Given the description of an element on the screen output the (x, y) to click on. 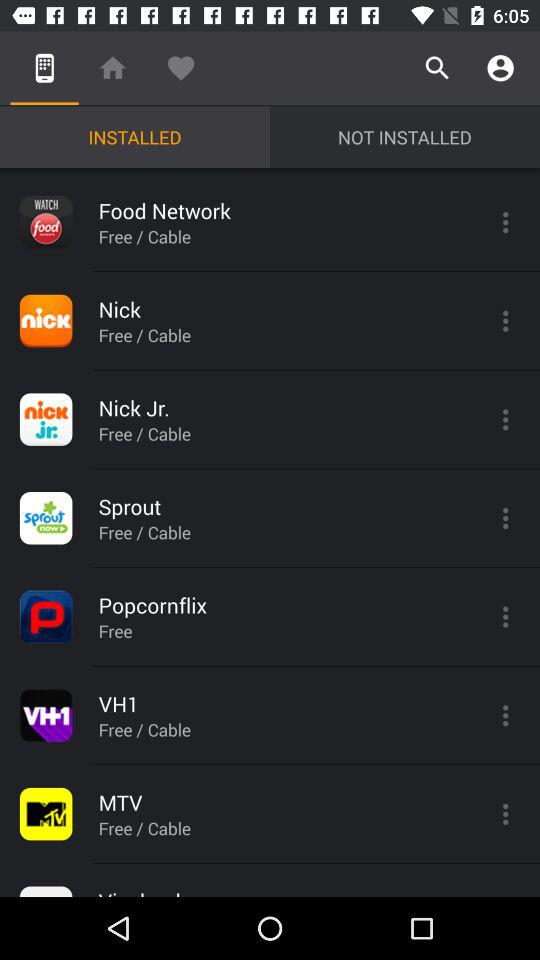
select the menu button which is to the right side of the sprout (505, 517)
go to not installed (405, 137)
click on sprout icon (45, 518)
icon before vh1 text (45, 715)
icon before nick jr text (45, 419)
